Given the description of an element on the screen output the (x, y) to click on. 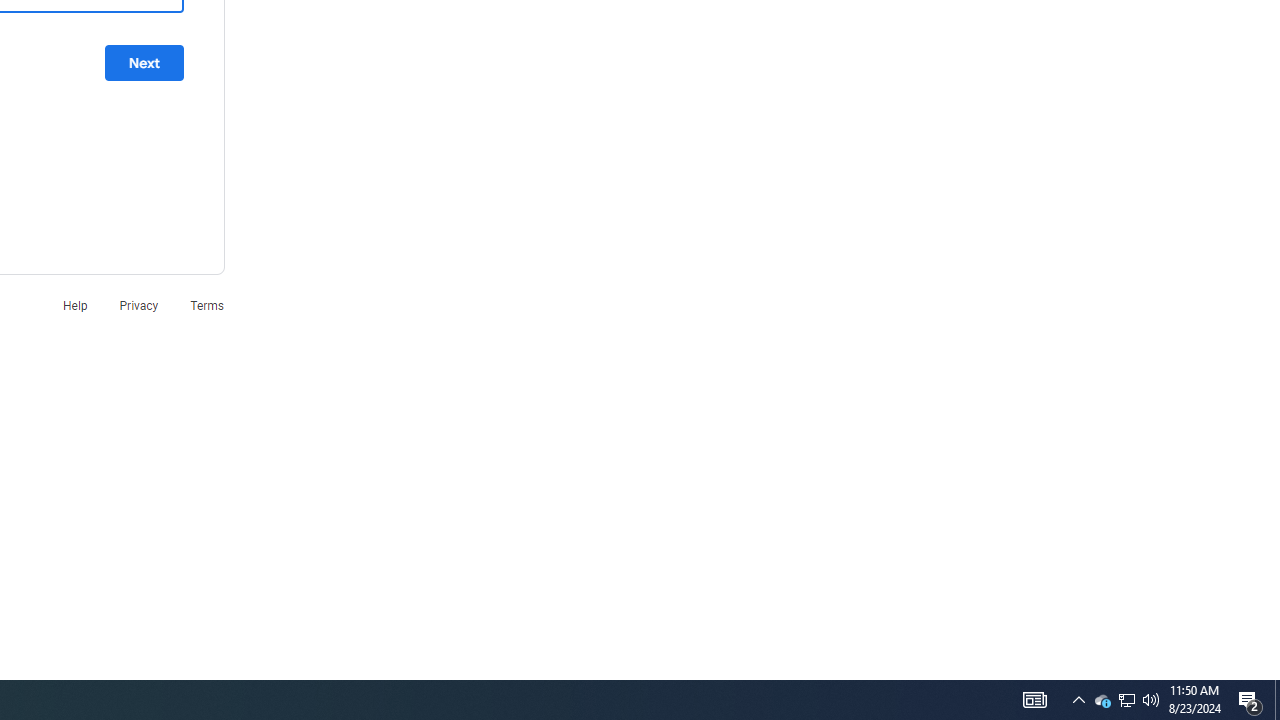
Terms (207, 304)
Help (74, 304)
Privacy (138, 304)
Next (143, 63)
